Given the description of an element on the screen output the (x, y) to click on. 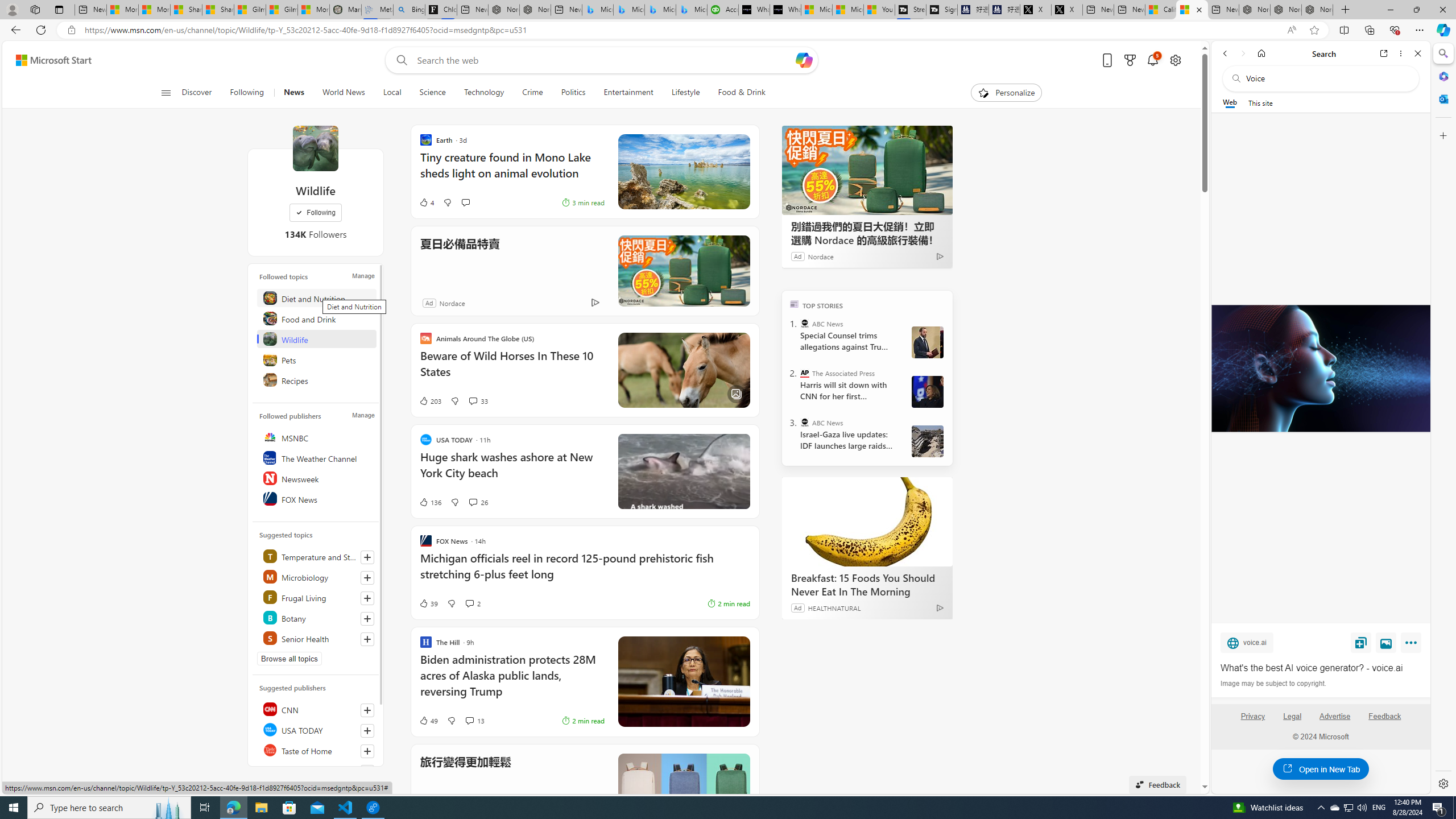
Manatee Mortality Statistics | FWC (345, 9)
Skip to footer (46, 59)
Breakfast: 15 Foods You Should Never Eat In The Morning (866, 584)
Local (391, 92)
Diet and Nutrition (317, 298)
4 Like (425, 202)
